Given the description of an element on the screen output the (x, y) to click on. 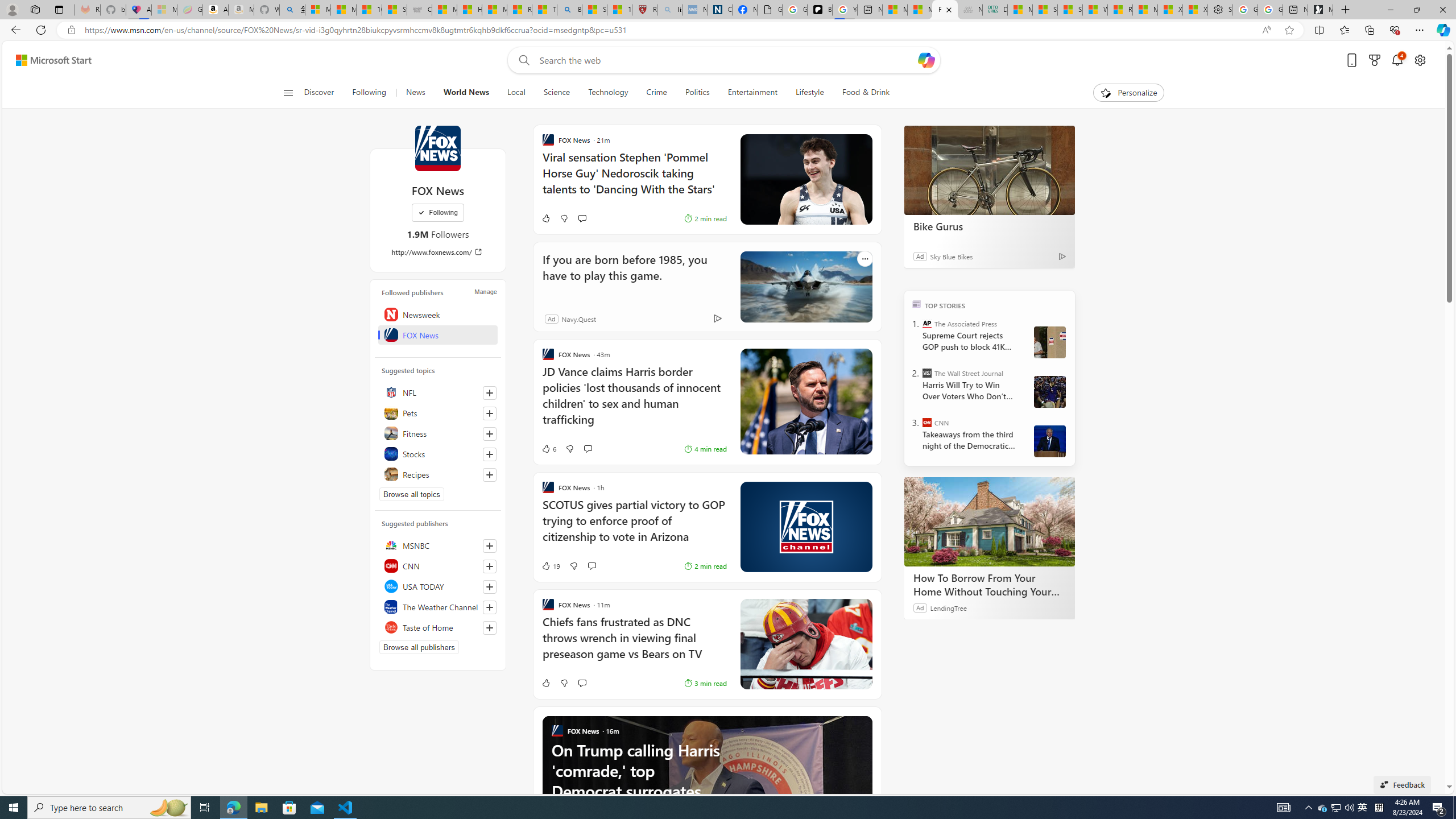
How I Got Rid of Microsoft Edge's Unnecessary Features (469, 9)
Bike Gurus (989, 169)
http://www.foxnews.com/ (438, 251)
Google Analytics Opt-out Browser Add-on Download Page (769, 9)
